Given the description of an element on the screen output the (x, y) to click on. 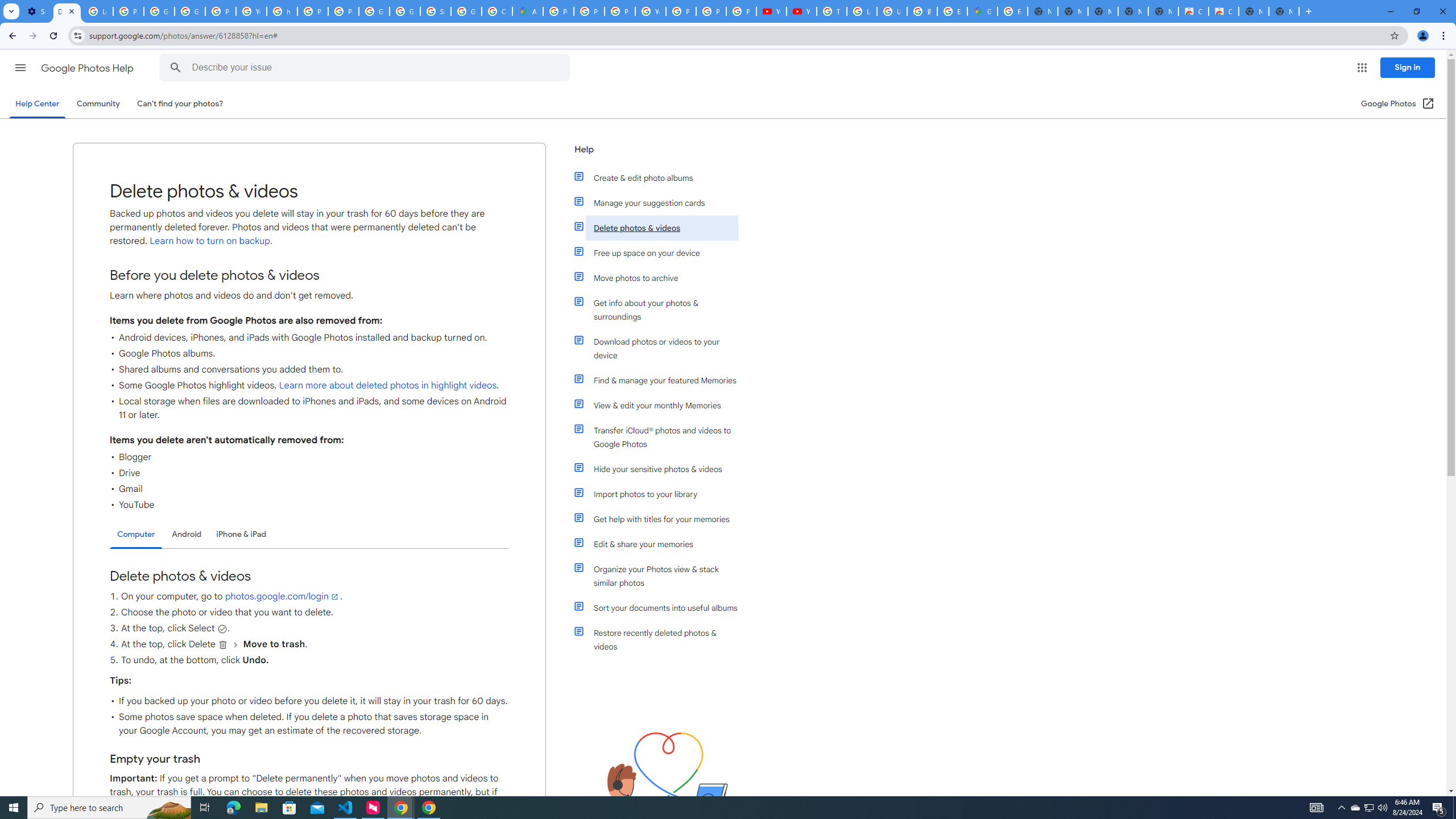
Sign in - Google Accounts (434, 11)
Google Photos Help (87, 68)
Move photos to archive (661, 277)
iPhone & iPad (240, 533)
Settings - On startup (36, 11)
Help Center (36, 103)
Find & manage your featured Memories (661, 380)
Policy Accountability and Transparency - Transparency Center (558, 11)
Sort your documents into useful albums (661, 607)
New Tab (1283, 11)
